Given the description of an element on the screen output the (x, y) to click on. 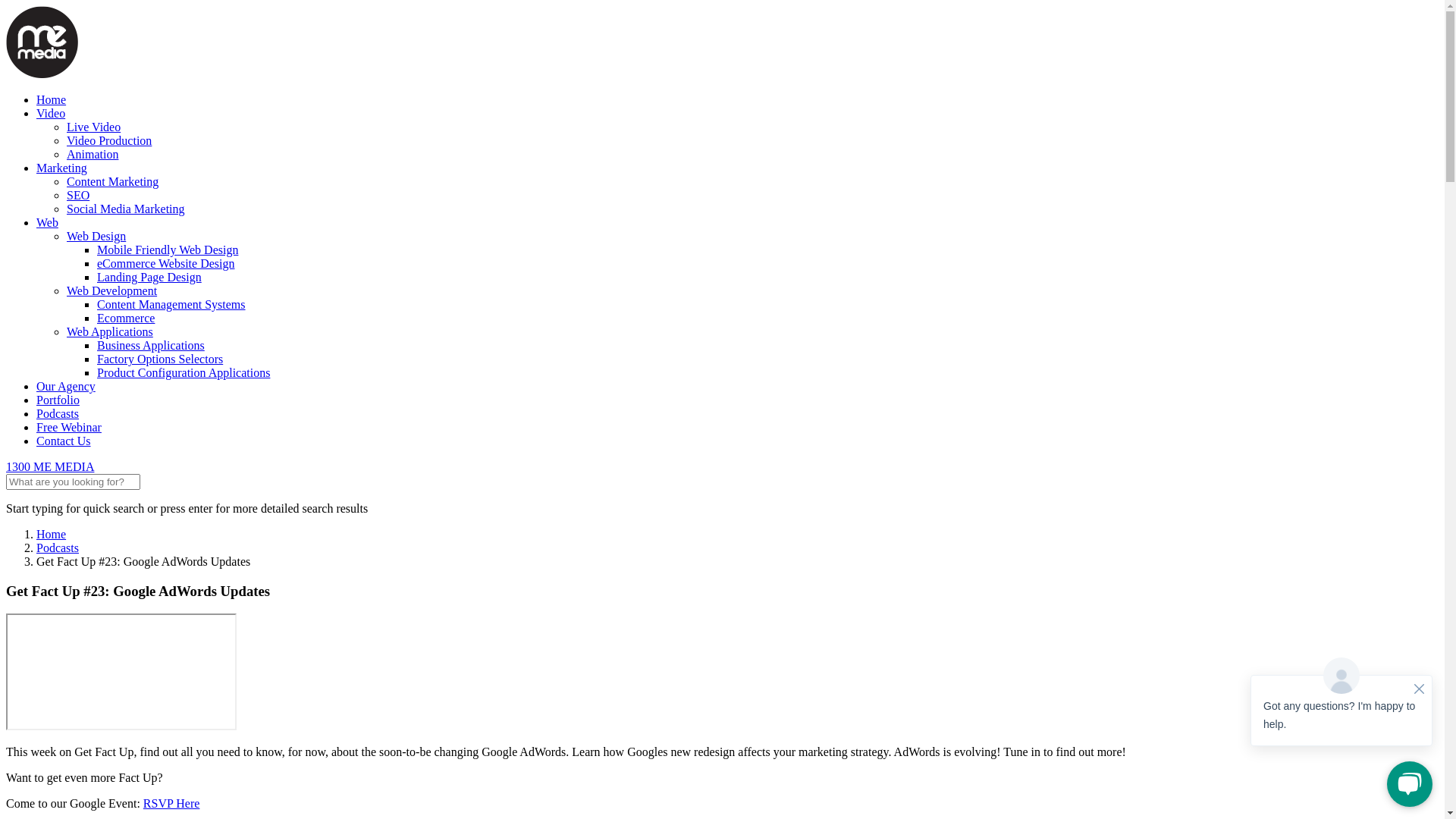
Animation Element type: text (92, 153)
Podcasts Element type: text (57, 547)
1300 ME MEDIA Element type: text (50, 466)
Live Video Element type: text (93, 126)
Factory Options Selectors Element type: text (159, 358)
Web Applications Element type: text (109, 331)
Video Element type: text (50, 112)
Mobile Friendly Web Design Element type: text (167, 249)
Web Development Element type: text (111, 290)
Video Production Element type: text (108, 140)
Web Element type: text (47, 222)
Web Design Element type: text (95, 235)
Content Management Systems Element type: text (171, 304)
Podcasts Element type: text (57, 413)
RSVP Here Element type: text (171, 803)
SEO Element type: text (77, 194)
Home Element type: text (50, 533)
Portfolio Element type: text (57, 399)
Social Media Marketing Element type: text (125, 208)
Landing Page Design Element type: text (149, 276)
Our Agency Element type: text (65, 385)
Product Configuration Applications Element type: text (183, 372)
Contact Us Element type: text (63, 440)
Business Applications Element type: text (150, 344)
Home Element type: text (50, 99)
Ecommerce Element type: text (125, 317)
Free Webinar Element type: text (68, 426)
eCommerce Website Design Element type: text (165, 263)
Marketing Element type: text (61, 167)
Content Marketing Element type: text (112, 181)
Go To MeMedia's Home Page Element type: hover (42, 42)
